Given the description of an element on the screen output the (x, y) to click on. 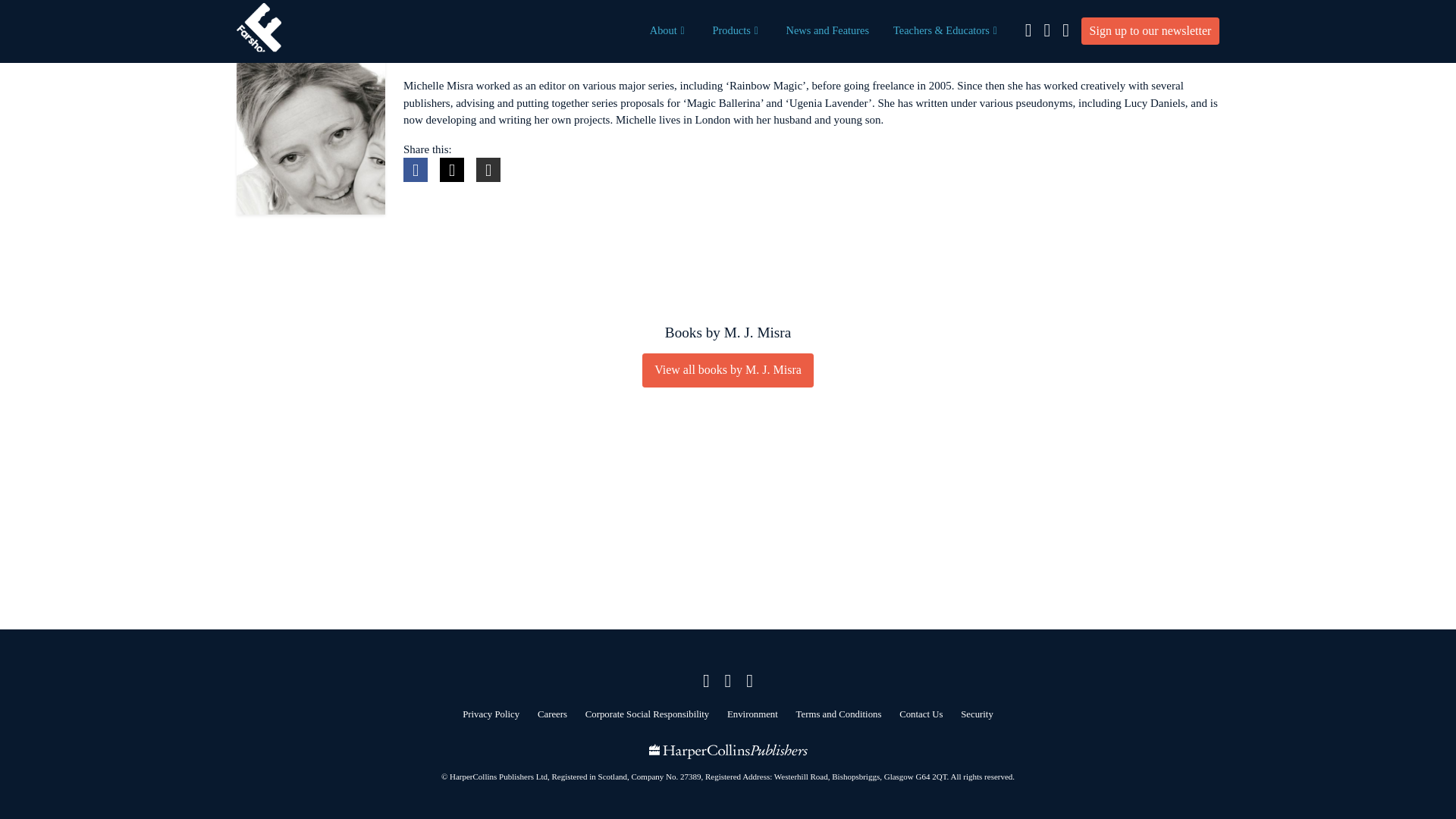
Products (736, 30)
Sign up to our newsletter (1150, 31)
View all books by M. J. Misra (727, 369)
About (668, 30)
News and Features (828, 30)
